Given the description of an element on the screen output the (x, y) to click on. 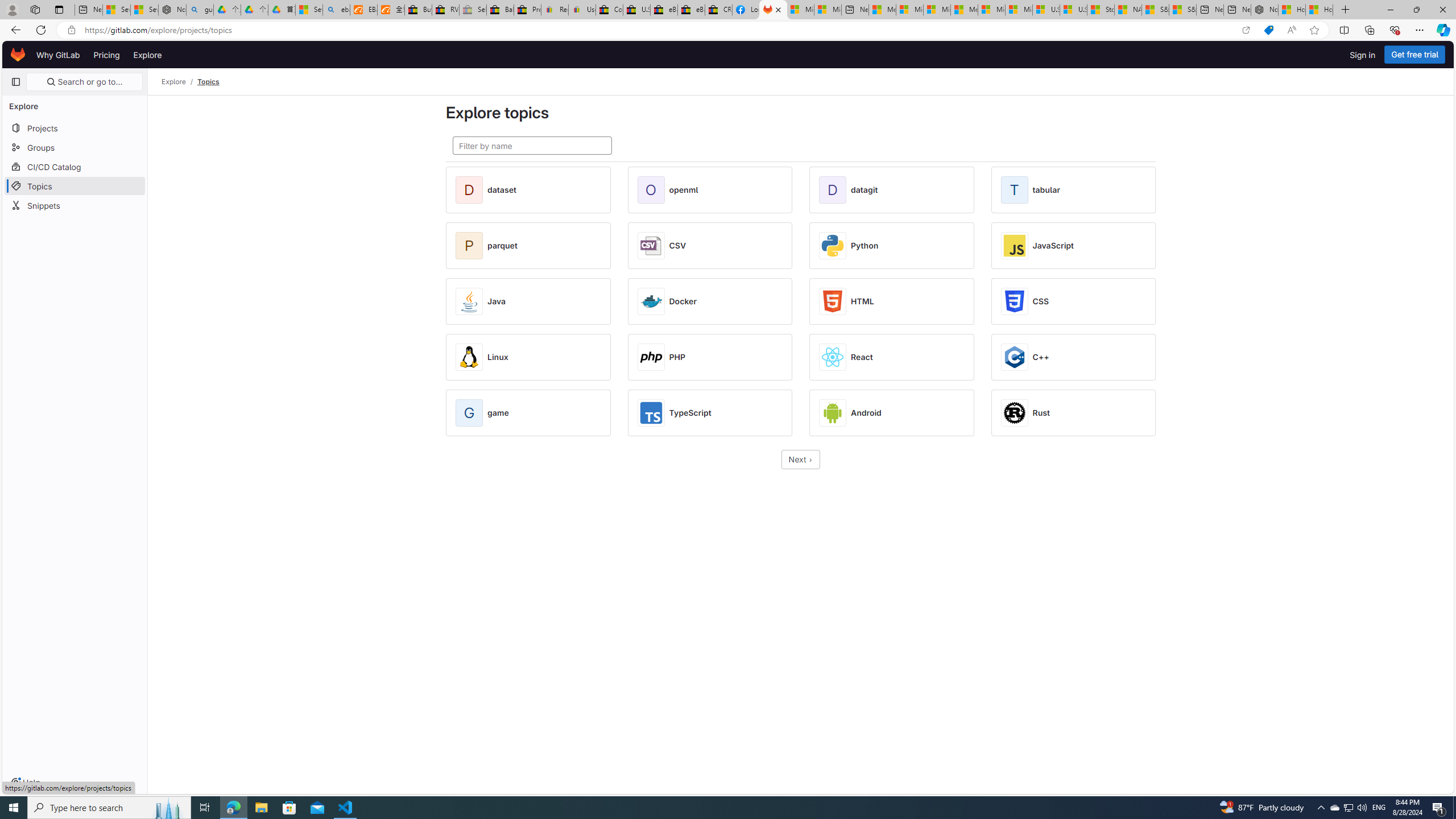
Snippets (74, 205)
tabular (1045, 189)
Sign in (1362, 54)
Next  (800, 459)
Pricing (106, 54)
HTML (861, 301)
CI/CD Catalog (74, 166)
Android (865, 412)
RV, Trailer & Camper Steps & Ladders for sale | eBay (445, 9)
